Given the description of an element on the screen output the (x, y) to click on. 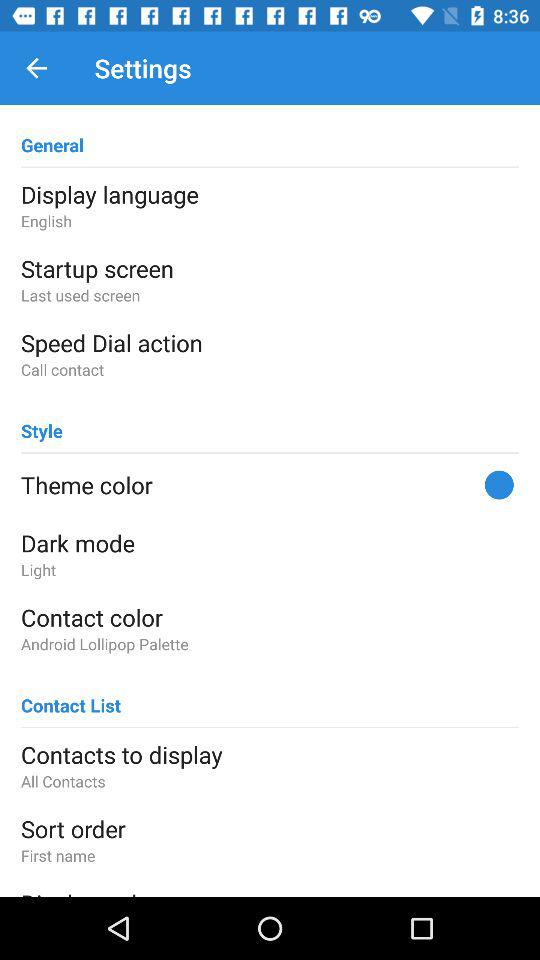
tap the icon below the theme color (270, 543)
